Given the description of an element on the screen output the (x, y) to click on. 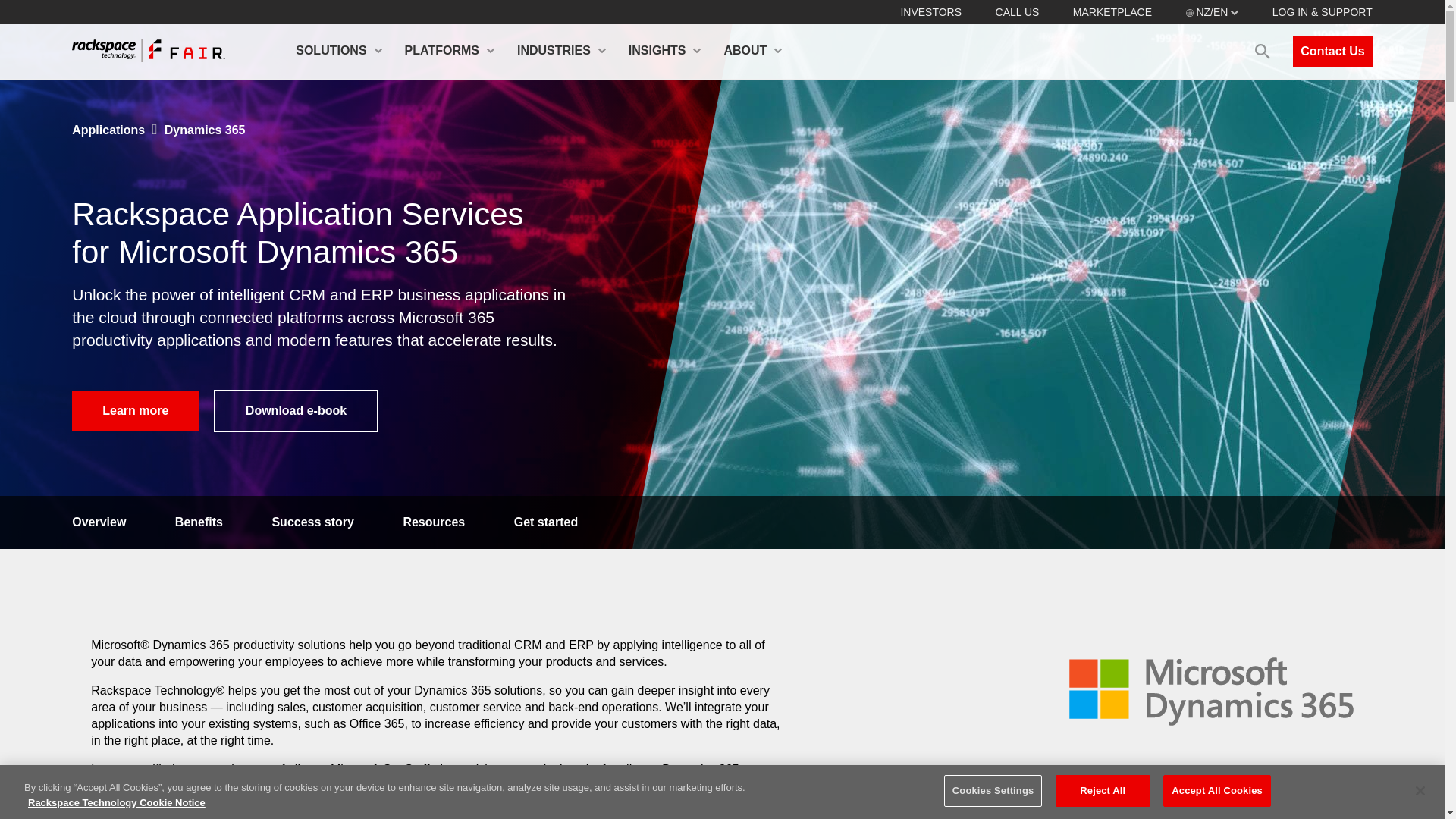
CALL US (1017, 11)
MARKETPLACE (1112, 11)
SOLUTIONS (338, 51)
INVESTORS (929, 11)
